Given the description of an element on the screen output the (x, y) to click on. 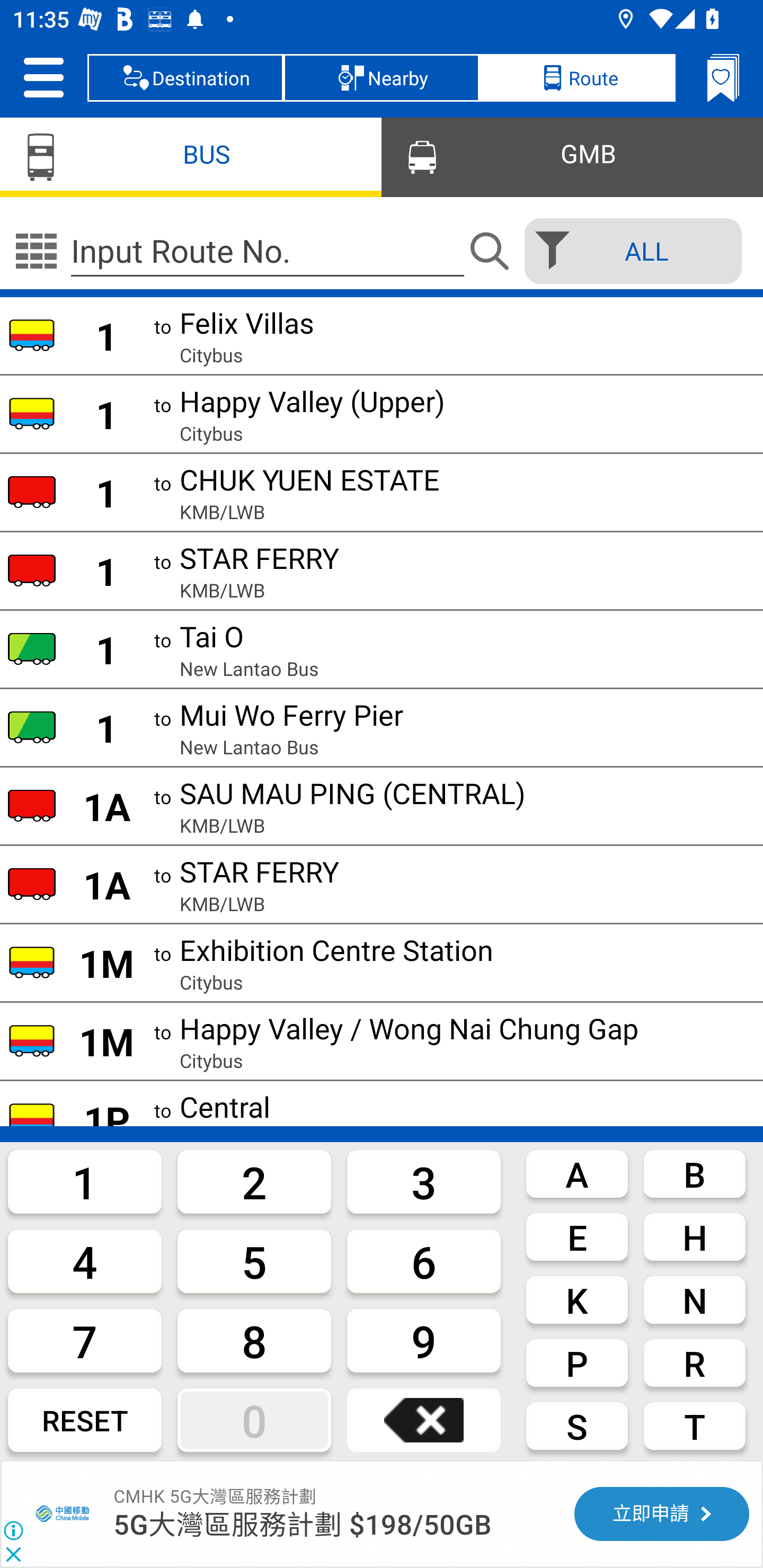
Destination (185, 77)
Nearby (381, 77)
Route, selected (577, 77)
Bookmarks (723, 77)
Setting (43, 77)
BUS, selected (190, 155)
GMB (572, 155)
selected ALL (627, 250)
no (36, 250)
1 (84, 1181)
2 (254, 1181)
3 (423, 1181)
A (576, 1173)
B (694, 1173)
E (576, 1236)
H (694, 1236)
4 (84, 1261)
5 (254, 1261)
6 (423, 1261)
K (576, 1299)
N (694, 1299)
7 (84, 1340)
8 (254, 1340)
9 (423, 1340)
P (576, 1362)
R (694, 1362)
RESET (84, 1419)
0 (254, 1419)
S (576, 1425)
T (694, 1425)
CMHK 5G大灣區服務計劃 (63, 1513)
CMHK 5G大灣區服務計劃 (215, 1495)
立即申請 (661, 1513)
5G大灣區服務計劃 $198/50GB (302, 1524)
